Given the description of an element on the screen output the (x, y) to click on. 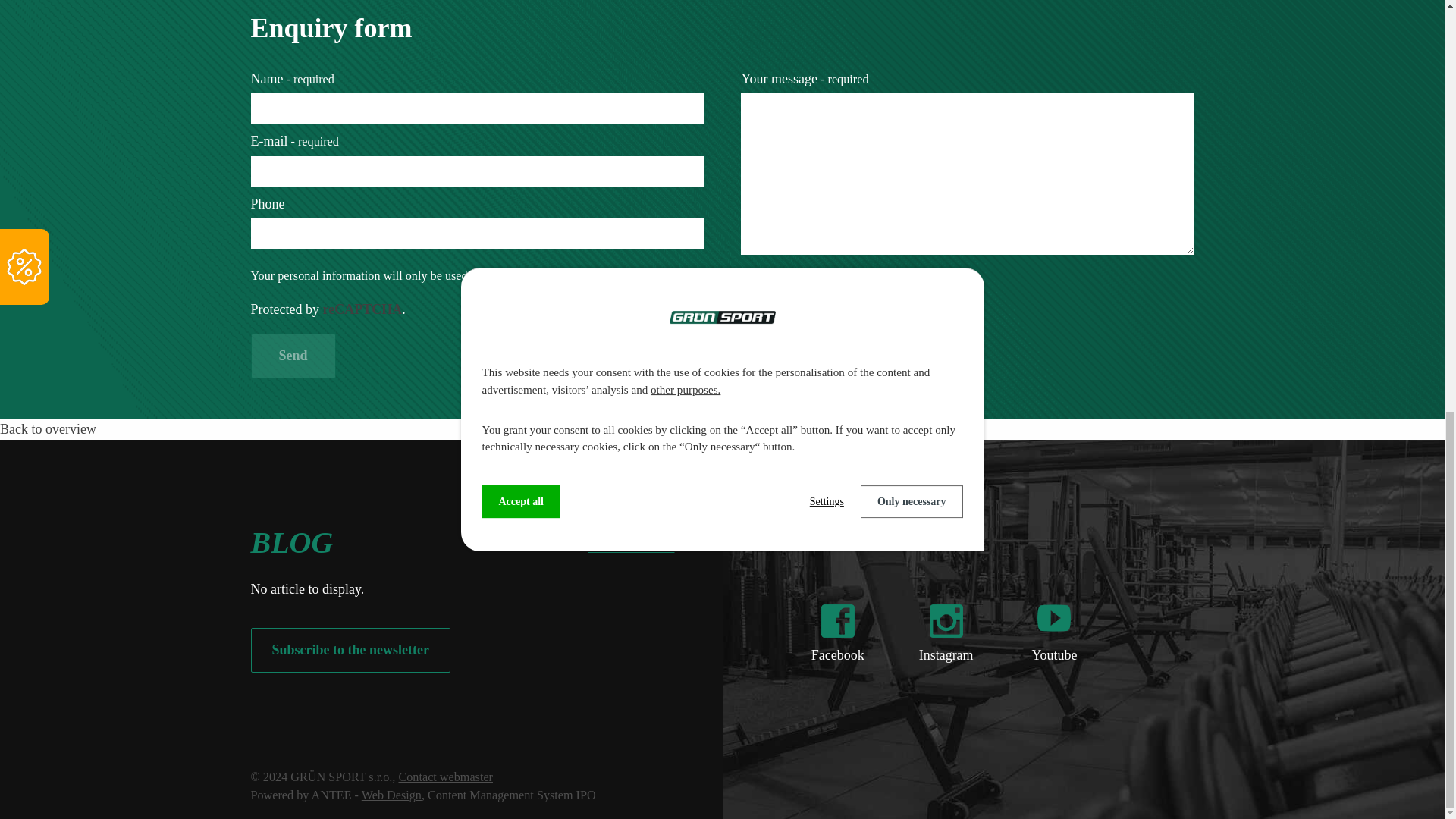
Send (292, 355)
More articles ... (631, 539)
Send (292, 355)
Subscribe to the newsletter (349, 650)
Back to overview (48, 428)
Facebook (837, 665)
reCAPTCHA (361, 309)
Contact webmaster (445, 776)
Youtube (1054, 665)
principles of processing personal data (845, 275)
Instagram (945, 665)
